Given the description of an element on the screen output the (x, y) to click on. 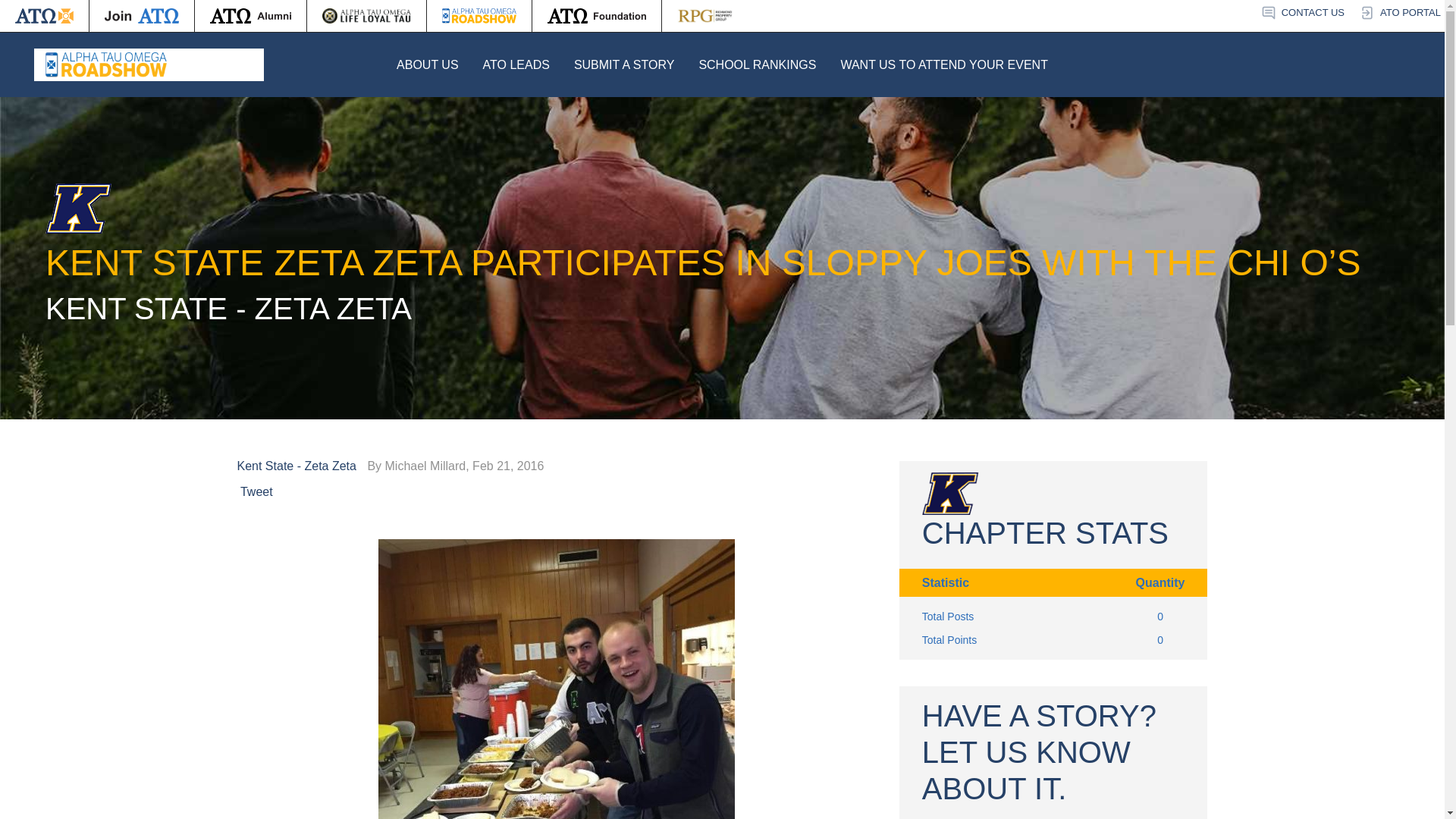
School Rankings (756, 64)
RPG (705, 15)
Alumni (250, 15)
Foundation (596, 15)
Submit a Story (624, 64)
Want Us To Attend Your Event (944, 64)
ATO Home (44, 15)
WANT US TO ATTEND YOUR EVENT (944, 64)
Join ATO (140, 15)
Tweet (256, 491)
Roadshow (478, 15)
CONTACT US (1301, 13)
ATO LEADS (516, 64)
Kent State Zeta Zeta (298, 465)
Life Loyal Tau (366, 15)
